Given the description of an element on the screen output the (x, y) to click on. 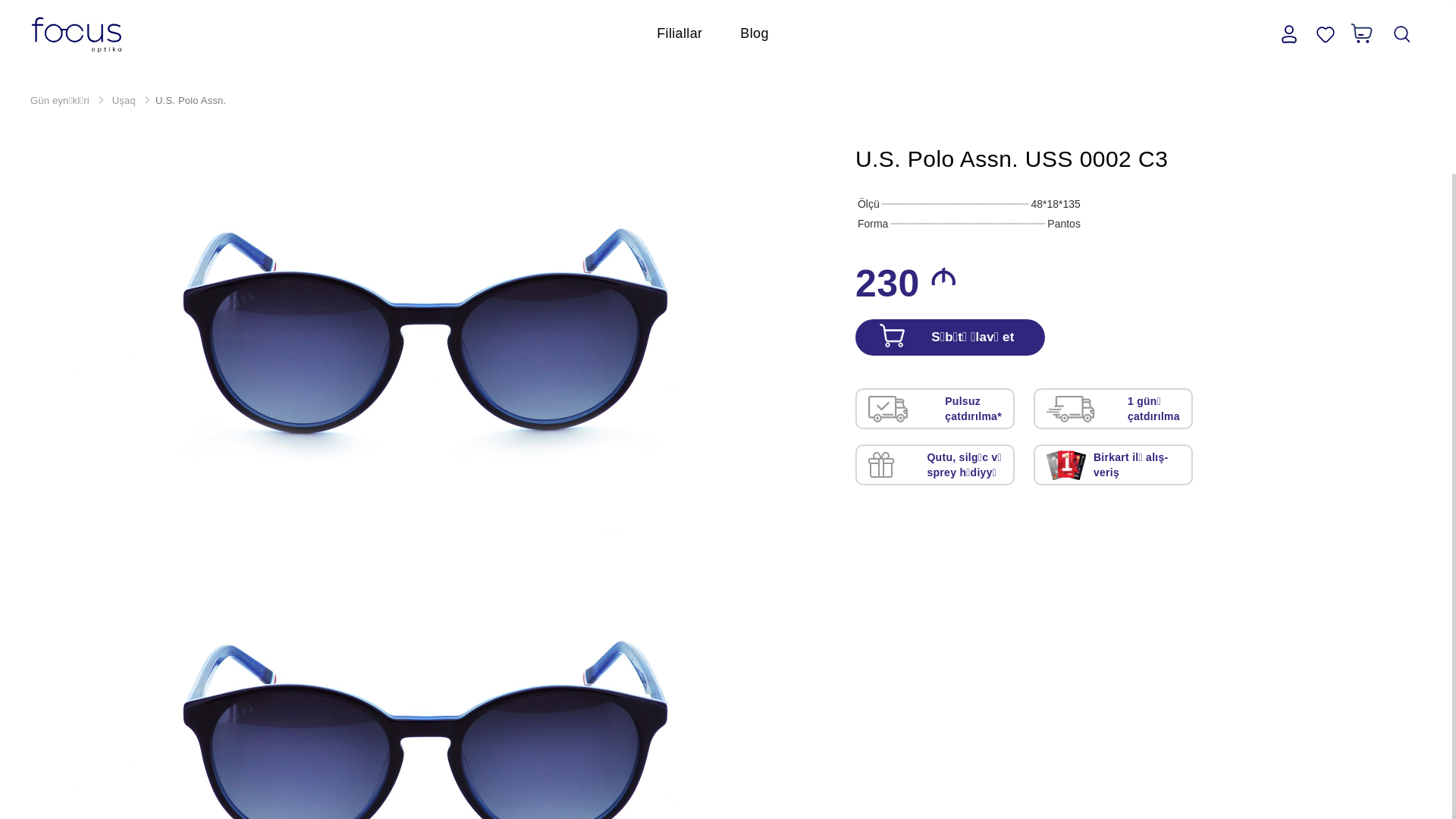
Blog Element type: text (753, 33)
Filiallar Element type: text (679, 33)
